Given the description of an element on the screen output the (x, y) to click on. 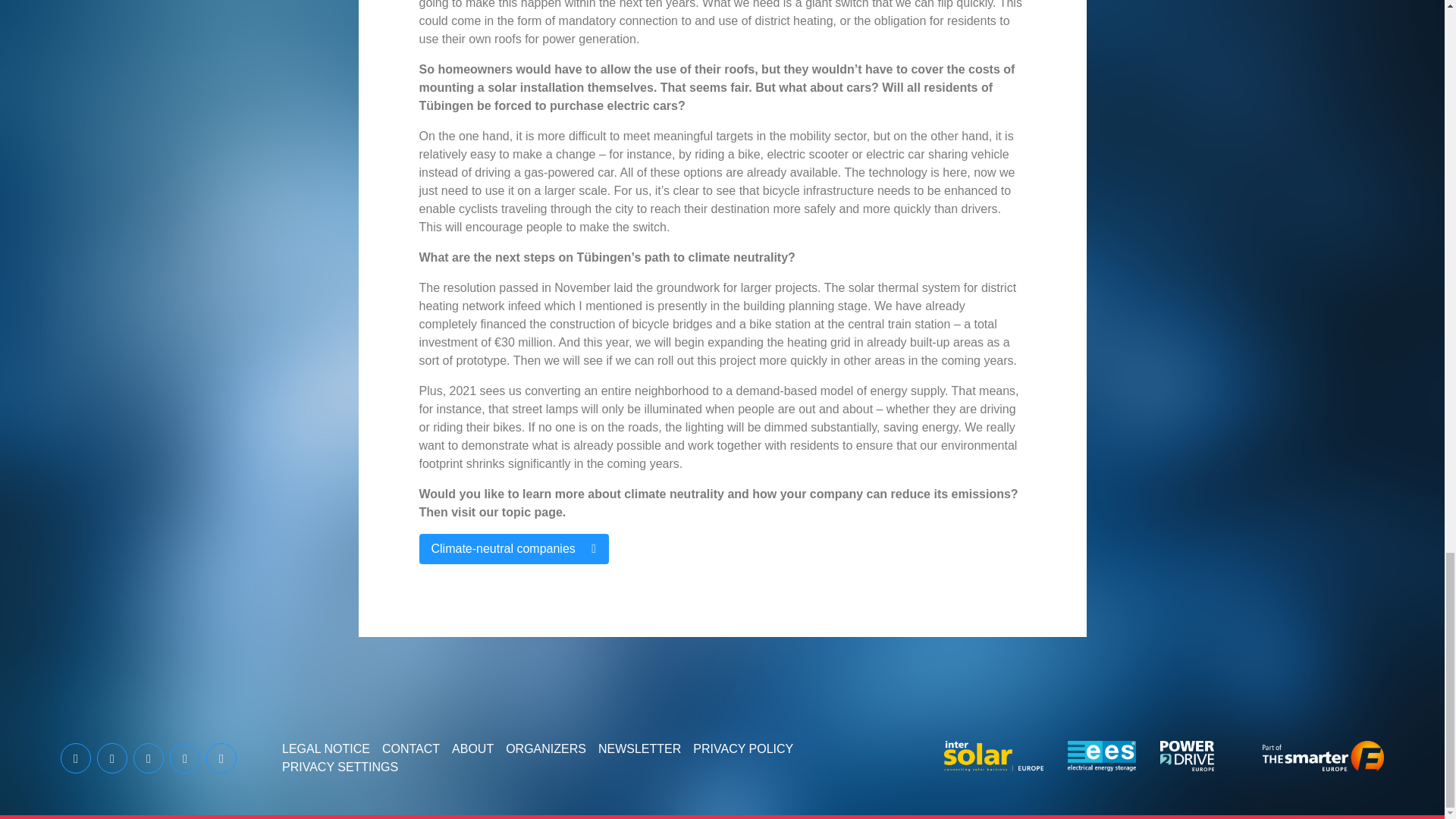
Climate-neutral companies  (513, 548)
